Given the description of an element on the screen output the (x, y) to click on. 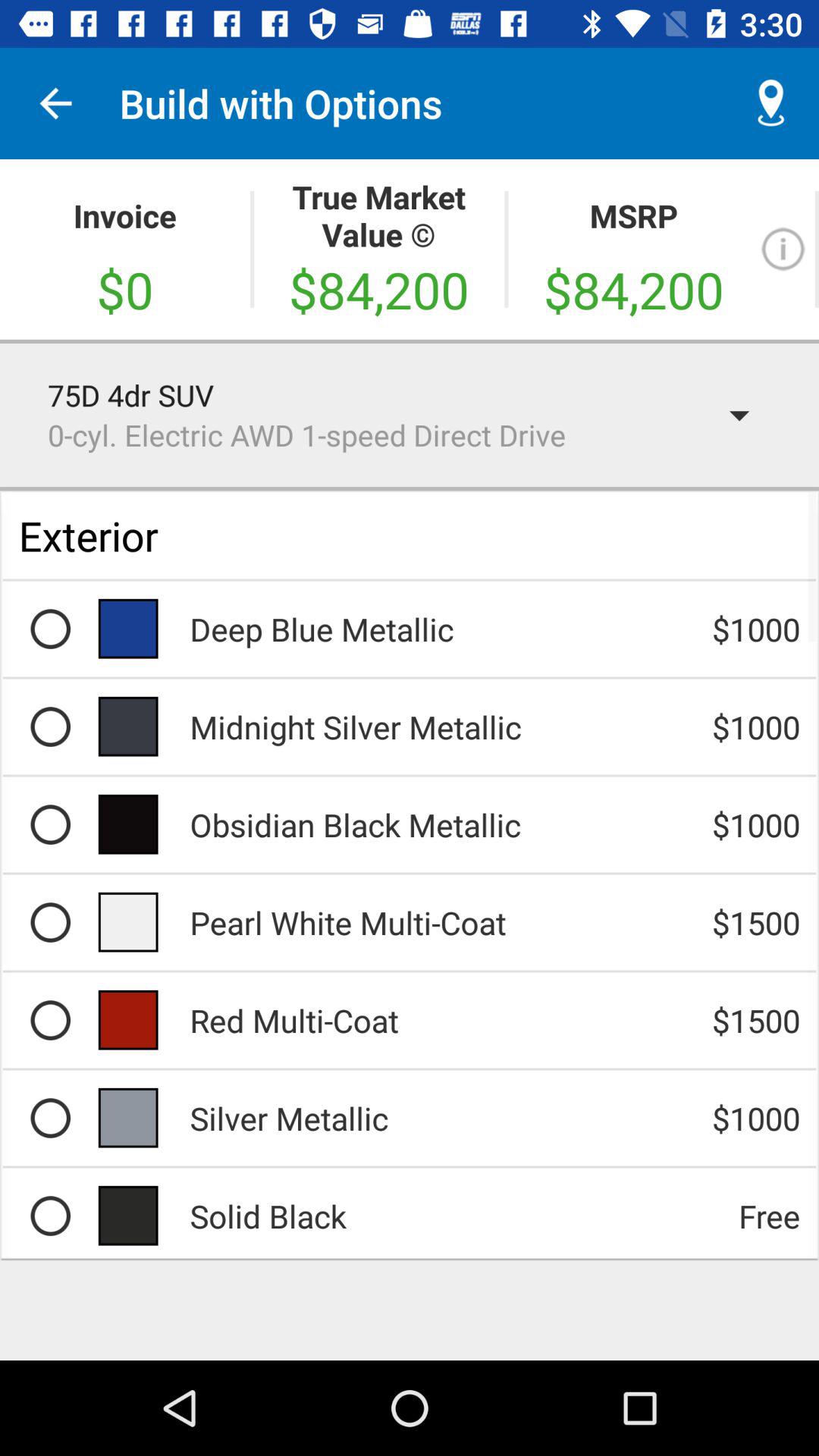
select color option (50, 824)
